Given the description of an element on the screen output the (x, y) to click on. 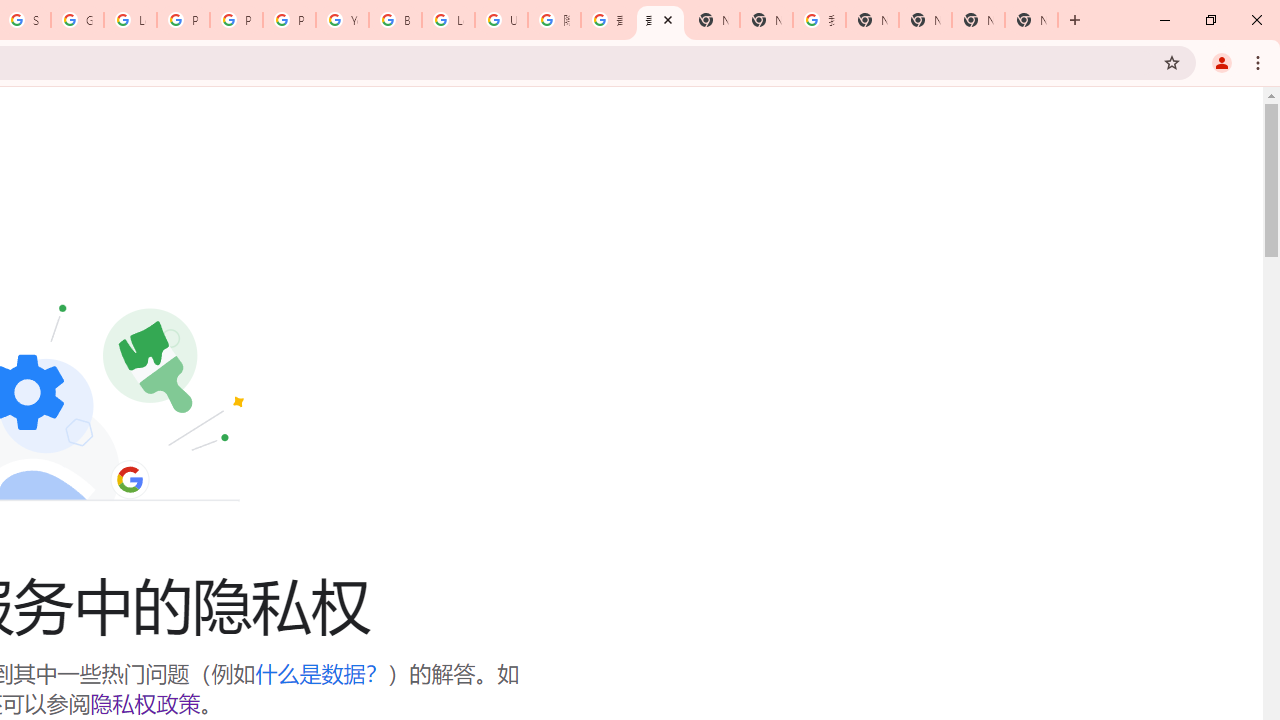
Privacy Help Center - Policies Help (183, 20)
Privacy Help Center - Policies Help (235, 20)
